Given the description of an element on the screen output the (x, y) to click on. 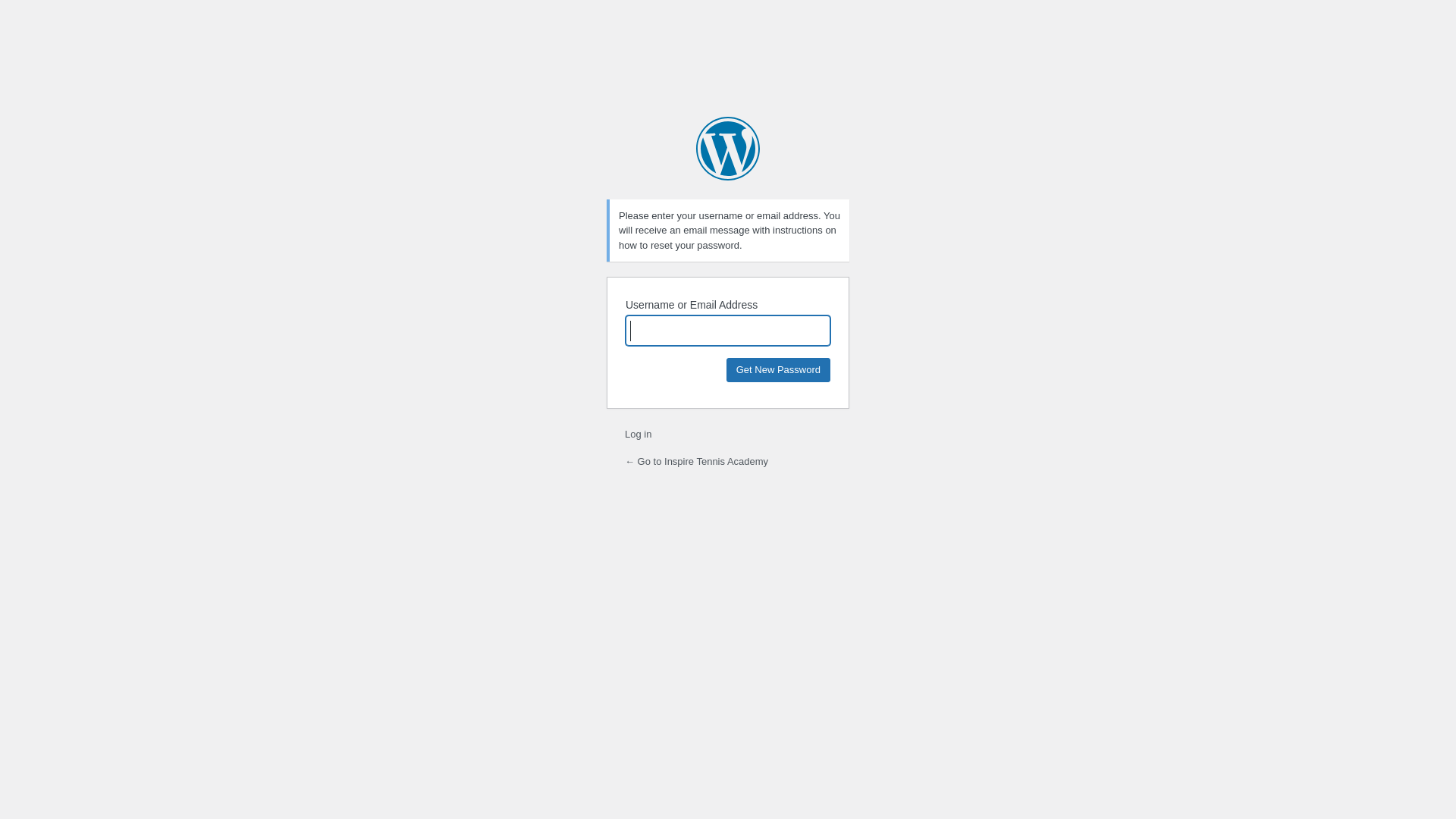
Log in Element type: text (637, 433)
Get New Password Element type: text (778, 369)
Powered by WordPress Element type: text (727, 148)
